Given the description of an element on the screen output the (x, y) to click on. 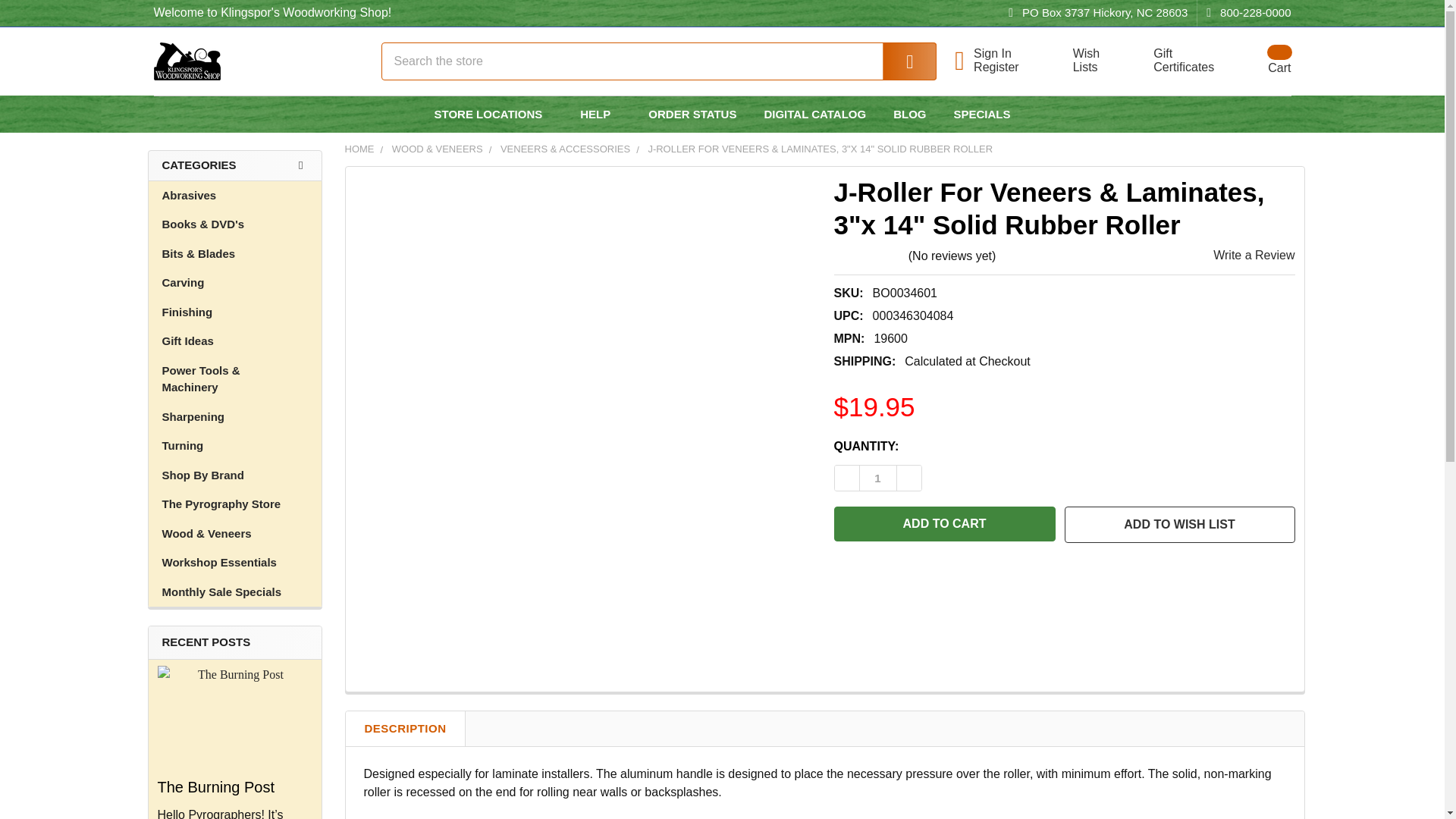
1 (878, 478)
Gift Certificates (1174, 60)
Wish Lists (1174, 60)
Cart (1077, 60)
800-228-0000 (1260, 60)
Klingspor's Woodworking Shop (1243, 13)
Cart (185, 61)
Sign In (1077, 60)
The Burning Post (1260, 60)
Search (1005, 53)
Add to Cart (235, 717)
Register (899, 61)
Search (944, 523)
